Given the description of an element on the screen output the (x, y) to click on. 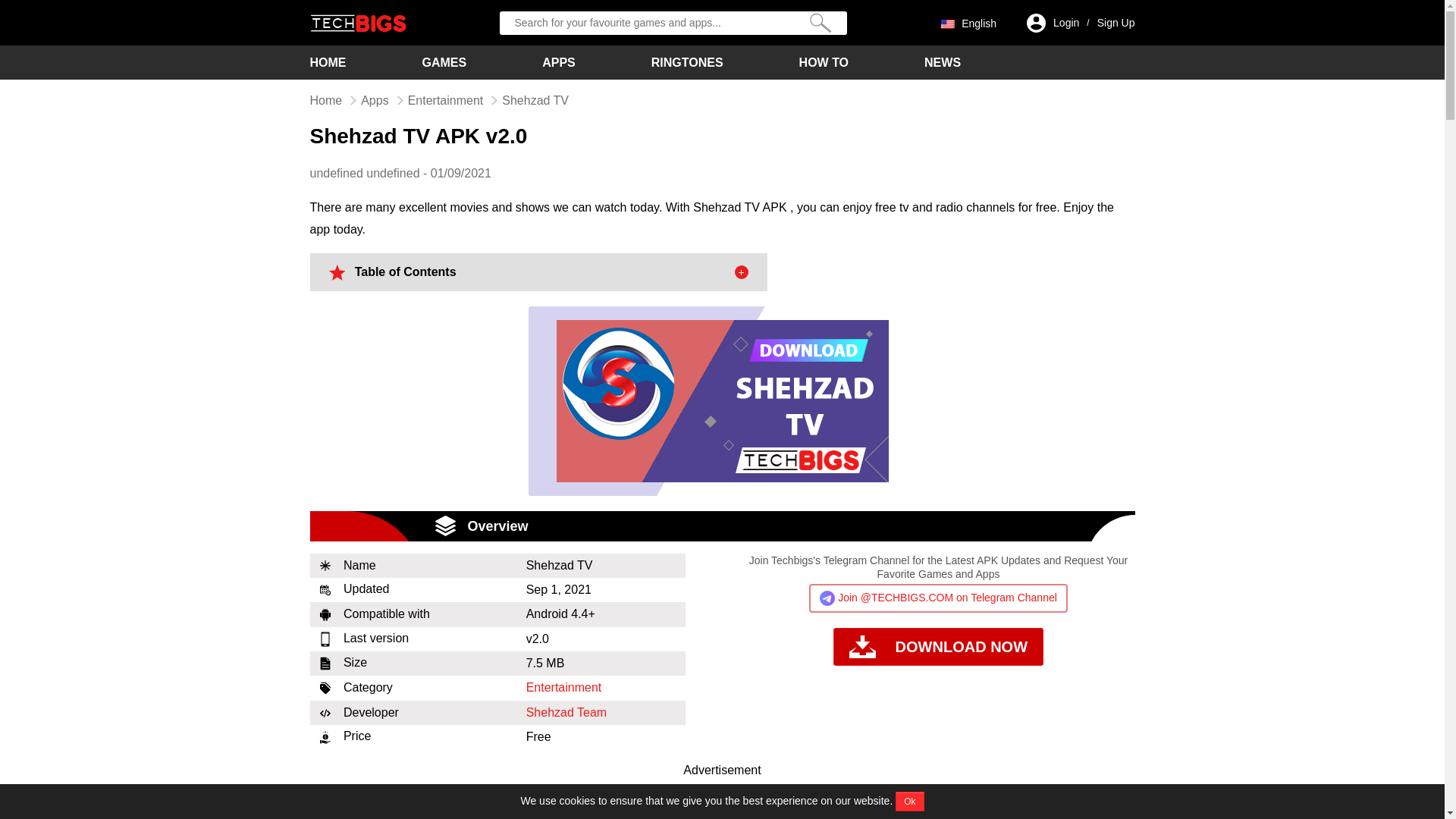
Ringtones (686, 62)
HOME (327, 62)
Entertainment (563, 686)
English (967, 22)
Games (443, 62)
How To (823, 62)
APPS (558, 62)
Login (1065, 23)
Entertainment (445, 100)
Home (325, 100)
Home (327, 62)
HOW TO (823, 62)
News (942, 62)
Sign Up (1116, 23)
Apps (374, 100)
